Given the description of an element on the screen output the (x, y) to click on. 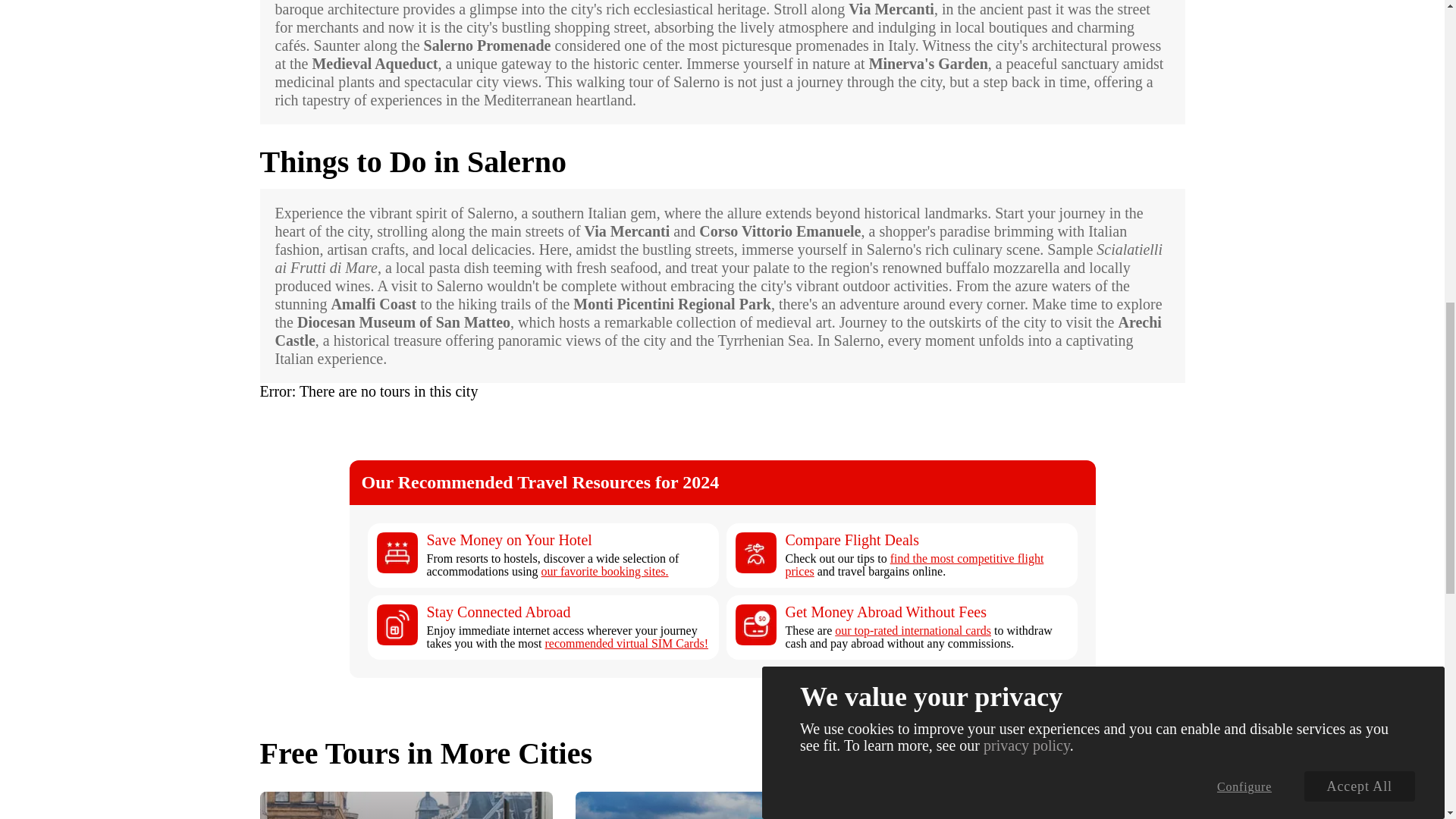
recommended virtual SIM Cards! (625, 643)
find the most competitive flight prices (914, 565)
our favorite booking sites. (604, 571)
our top-rated international cards (912, 630)
